Given the description of an element on the screen output the (x, y) to click on. 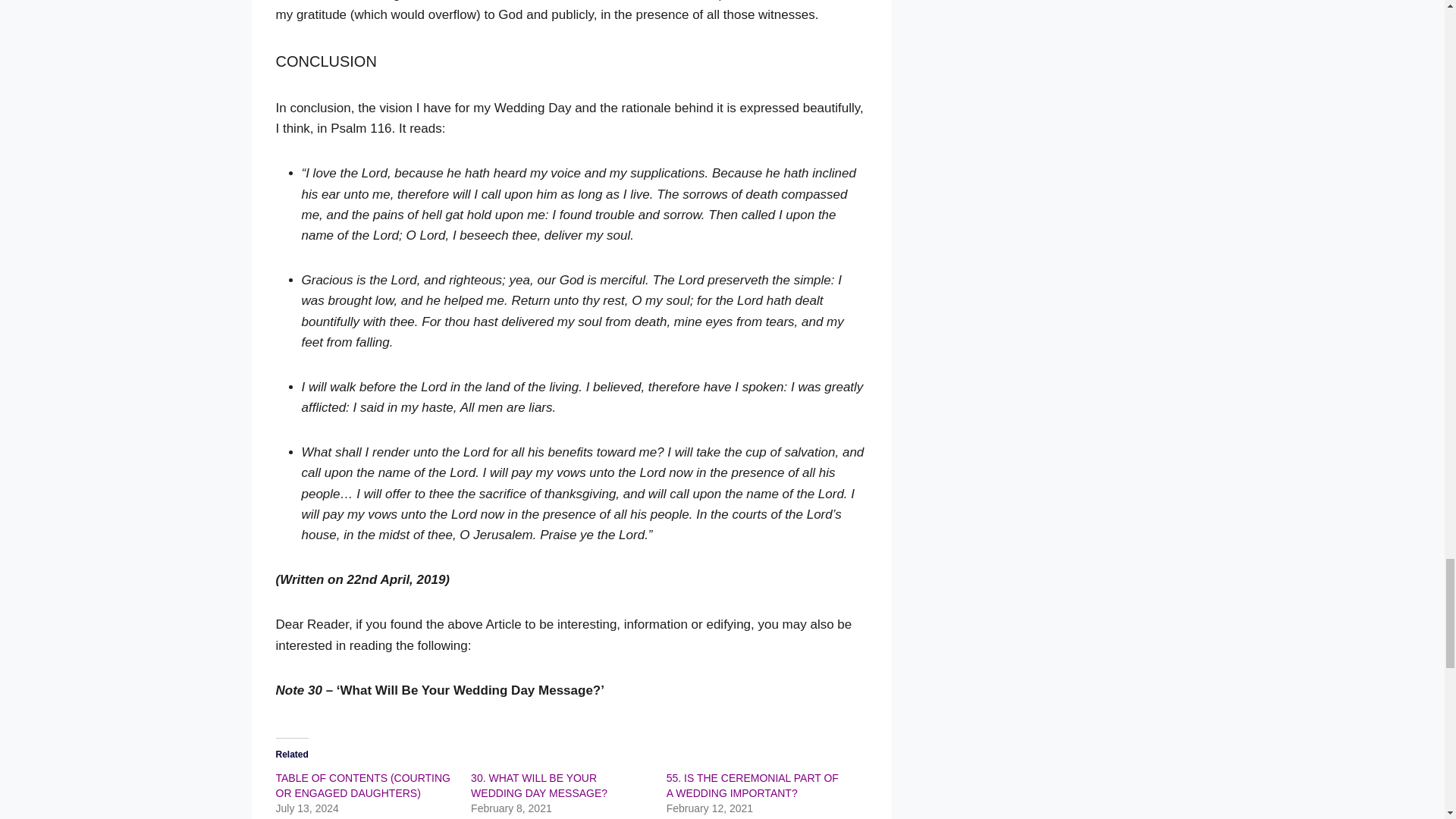
55. IS THE CEREMONIAL PART OF A WEDDING IMPORTANT? (752, 785)
30. WHAT WILL BE YOUR WEDDING DAY MESSAGE? (538, 785)
30. WHAT WILL BE YOUR WEDDING DAY MESSAGE? (538, 785)
55. IS THE CEREMONIAL PART OF A WEDDING IMPORTANT? (752, 785)
